Given the description of an element on the screen output the (x, y) to click on. 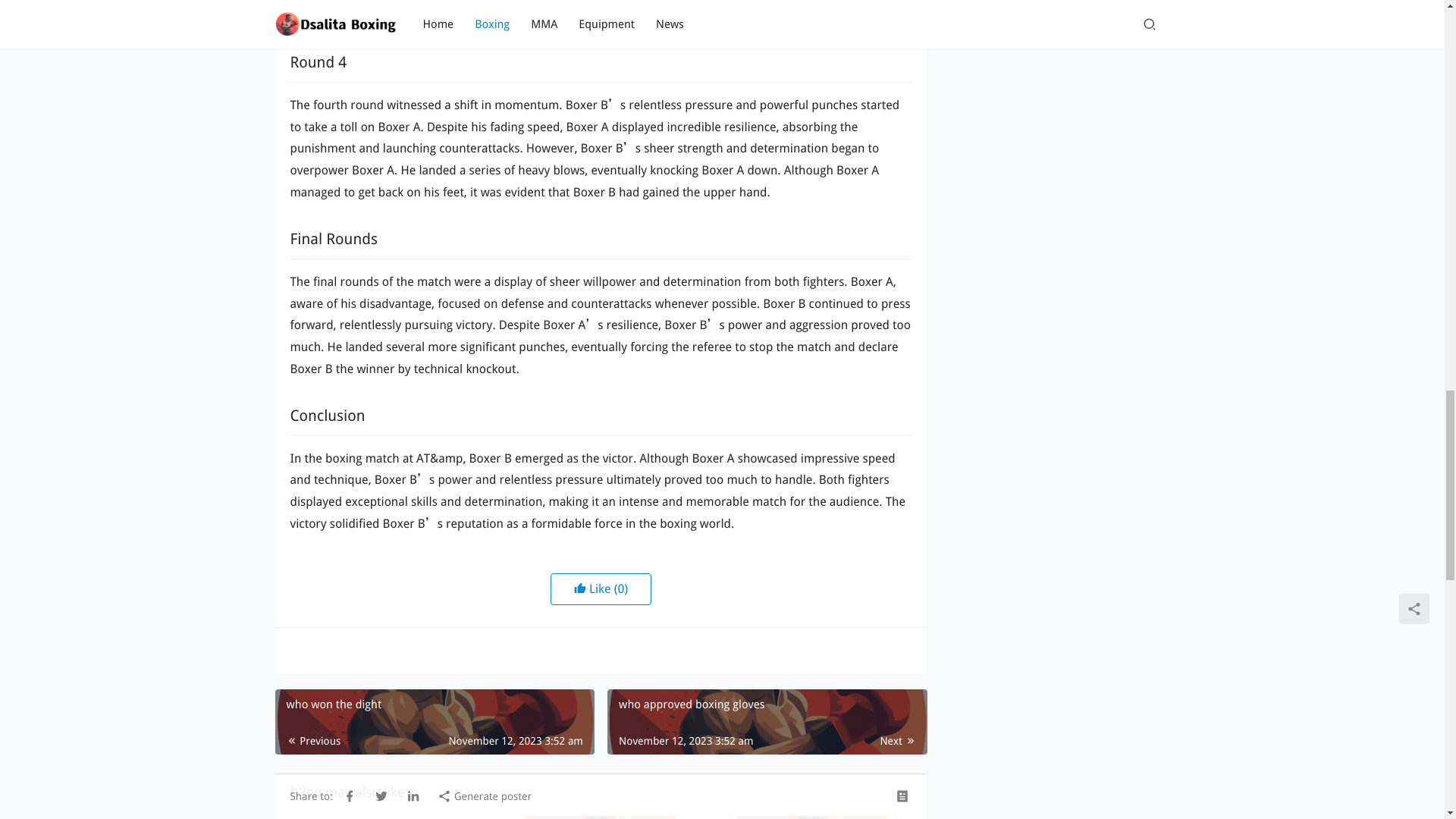
who won the boxing match between davis and santa cruz (812, 817)
who won the dight (434, 721)
who approved boxing gloves (766, 721)
who approved boxing gloves (766, 721)
who won the logan paul versus floyd mayweather boxing match (600, 817)
who won the dight (434, 721)
